Given the description of an element on the screen output the (x, y) to click on. 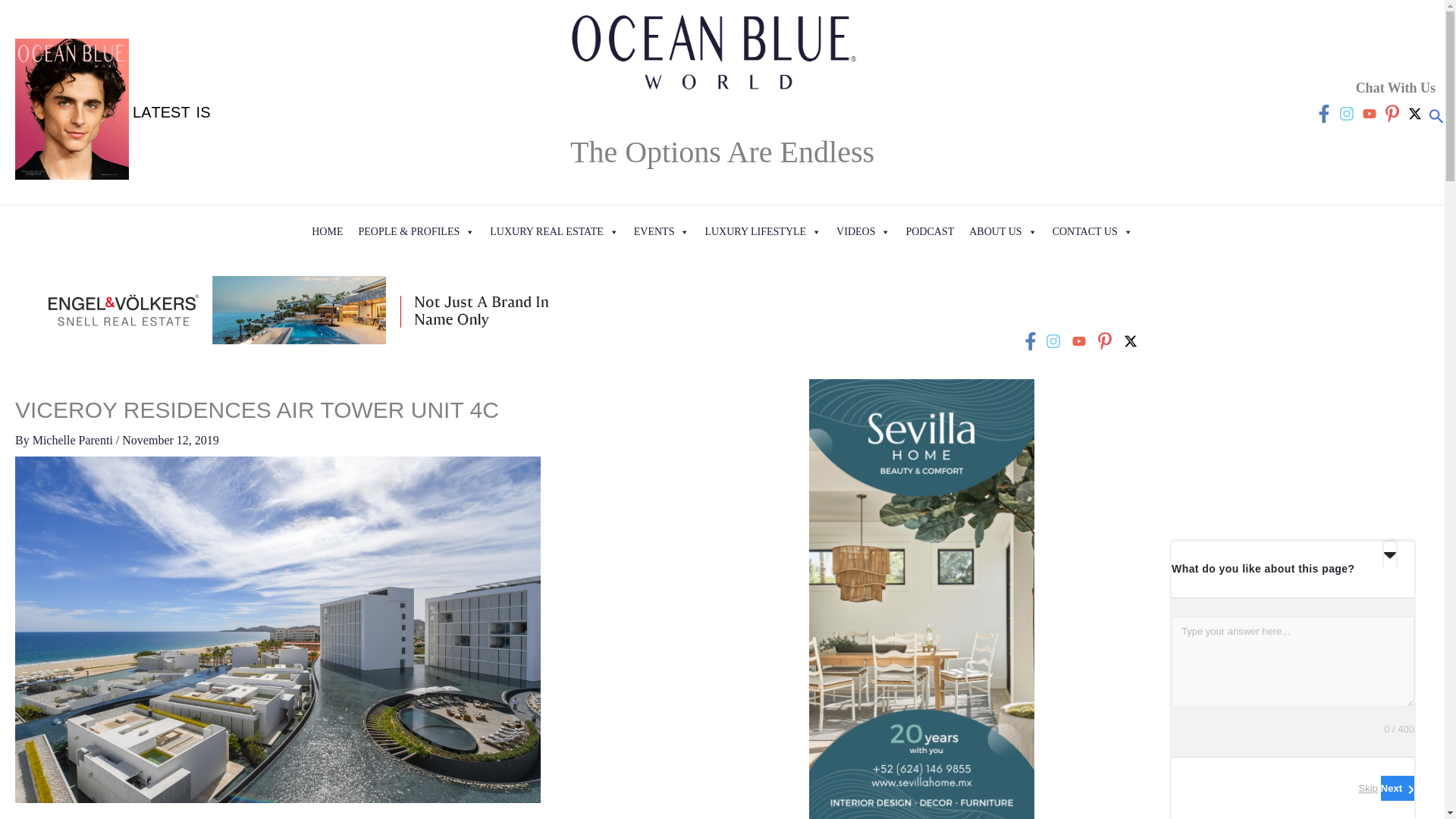
L (127, 111)
HOME (327, 232)
EVENTS (661, 232)
LUXURY LIFESTYLE (762, 232)
View all posts by Michelle Parenti (74, 440)
LUXURY REAL ESTATE (553, 232)
